Given the description of an element on the screen output the (x, y) to click on. 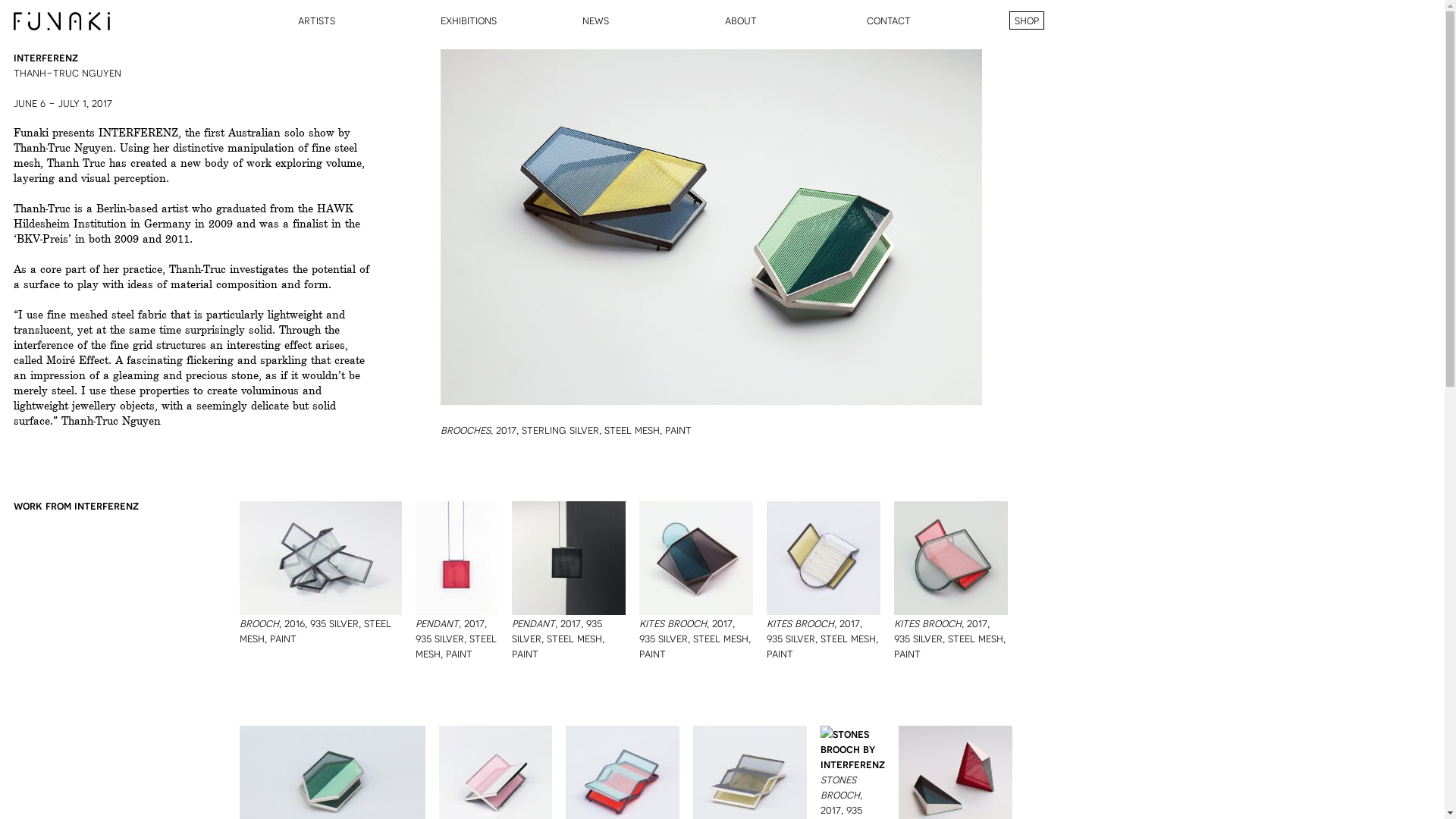
about Element type: text (740, 19)
artists Element type: text (316, 19)
news Element type: text (595, 19)
exhibitions Element type: text (467, 19)
<em>Kites brooch</em>, 2017, 935 silver, steel mesh, paint Element type: hover (950, 558)
<em>Brooch</em>, 2016, 935 silver, steel mesh, paint Element type: hover (320, 558)
<em>Kites brooch</em>, 2017, 935 silver, steel mesh, paint Element type: hover (823, 558)
shop Element type: text (1025, 20)
<em>Pendant</em>, 2017, 935 silver, steel mesh, paint Element type: hover (456, 558)
<em>Stones brooch</em>, 2017, 935 silver, steel mesh, paint Element type: hover (852, 748)
<em>Kites brooch</em>, 2017, 935 silver, steel mesh, paint Element type: hover (696, 558)
contact Element type: text (888, 19)
<em>Pendant</em>, 2017, 935 silver, steel mesh, paint Element type: hover (568, 558)
